Given the description of an element on the screen output the (x, y) to click on. 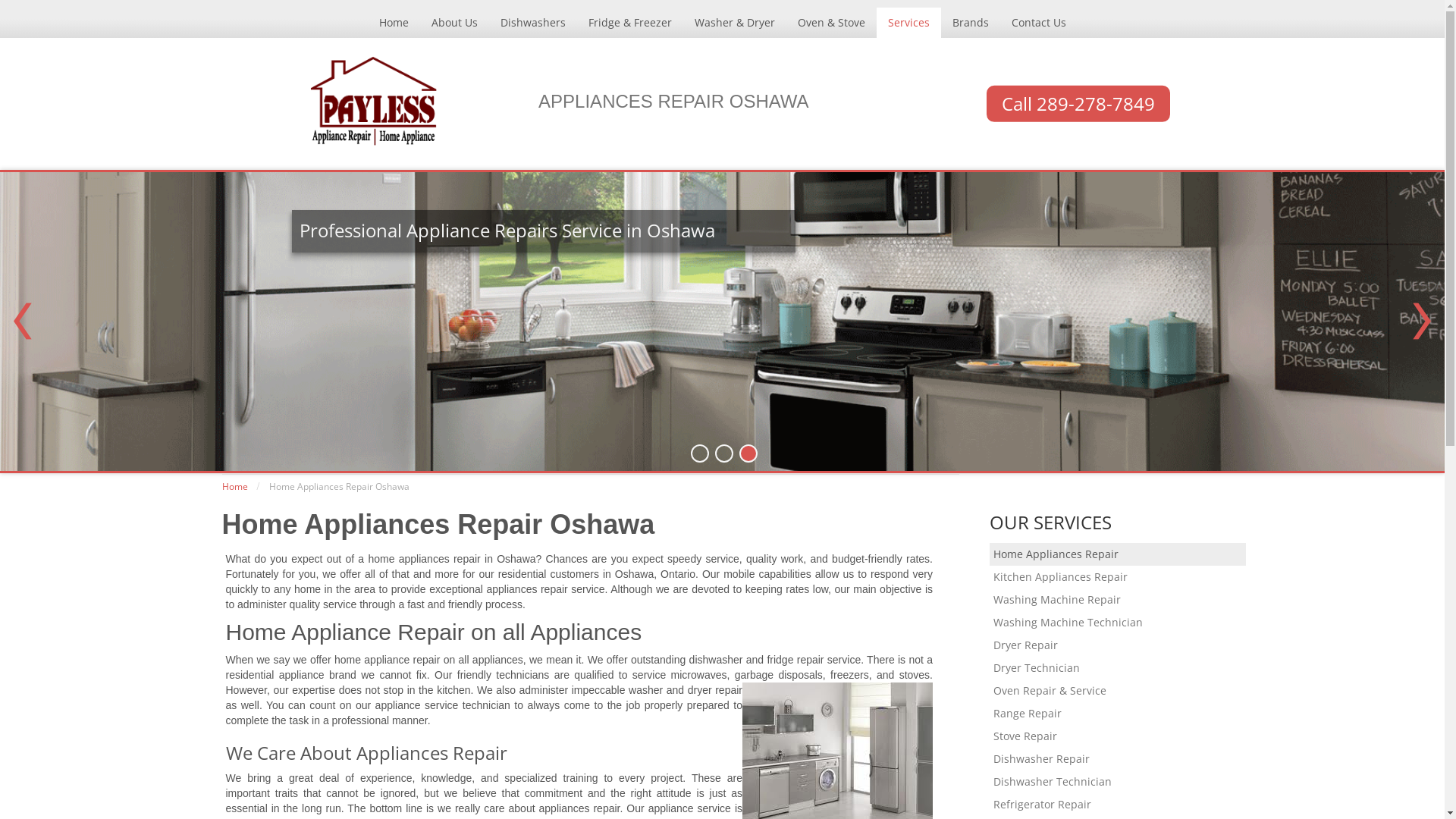
About Us Element type: text (454, 22)
Services Element type: text (908, 22)
Call 289-278-7849 Element type: text (1077, 103)
Oven & Stove Element type: text (830, 22)
Washing Machine Repair Element type: text (1117, 599)
Washing Machine Technician Element type: text (1117, 622)
Stove Repair Element type: text (1117, 735)
Home Appliances Repair Element type: text (1117, 553)
Fridge & Freezer Element type: text (629, 22)
Washer & Dryer Element type: text (733, 22)
Dishwasher Repair Element type: text (1117, 758)
Home Element type: text (234, 486)
Home Element type: text (393, 22)
Dryer Technician Element type: text (1117, 667)
APPLIANCES REPAIR OSHAWA Element type: text (673, 101)
Dishwasher Technician Element type: text (1117, 781)
Oven Repair & Service Element type: text (1117, 690)
Refrigerator Repair Element type: text (1117, 804)
Dishwashers Element type: text (532, 22)
Kitchen Appliances Repair Element type: text (1117, 576)
Contact Us Element type: text (1037, 22)
Dryer Repair Element type: text (1117, 644)
Range Repair Element type: text (1117, 713)
Brands Element type: text (969, 22)
